Given the description of an element on the screen output the (x, y) to click on. 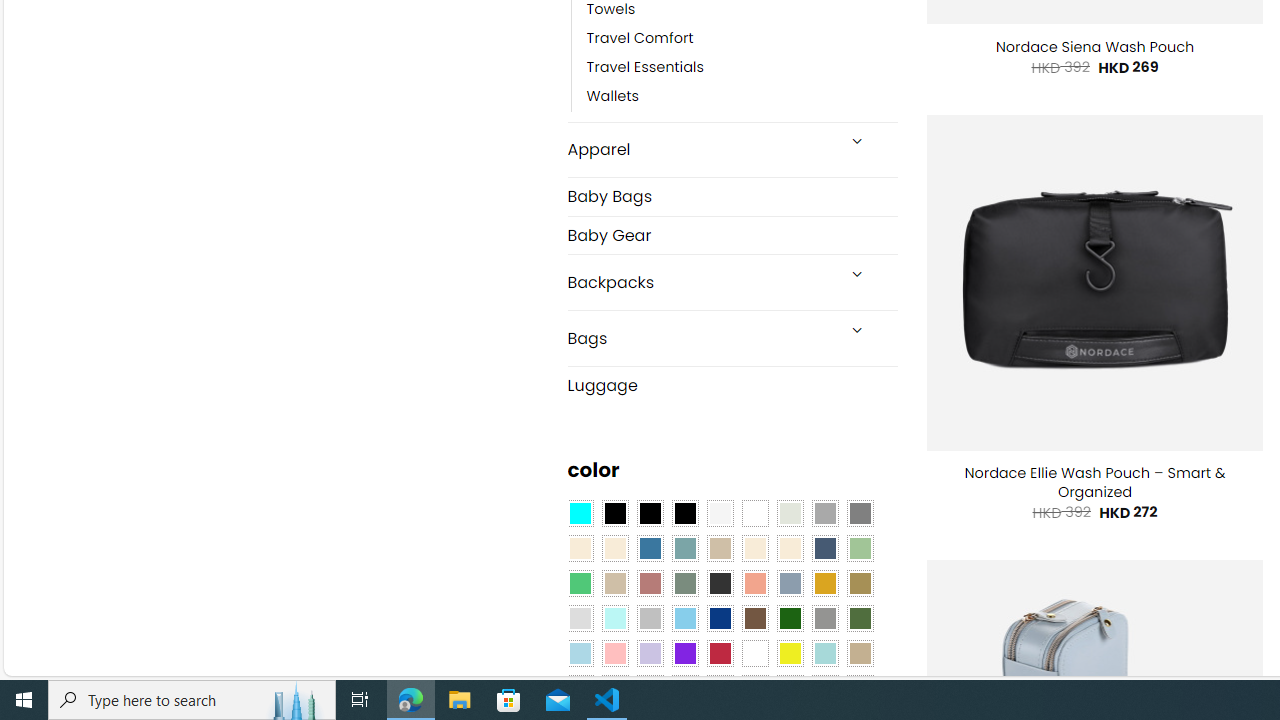
Baby Gear (732, 234)
Gray (824, 619)
Baby Gear (732, 235)
Pink (614, 653)
All Black (614, 514)
Nordace Siena Wash Pouch (1094, 47)
Dark Gray (824, 514)
Light Green (859, 548)
Blue Sage (684, 548)
Pearly White (719, 514)
Brownie (719, 548)
Coral (755, 583)
Baby Bags (732, 196)
Charcoal (719, 583)
